Given the description of an element on the screen output the (x, y) to click on. 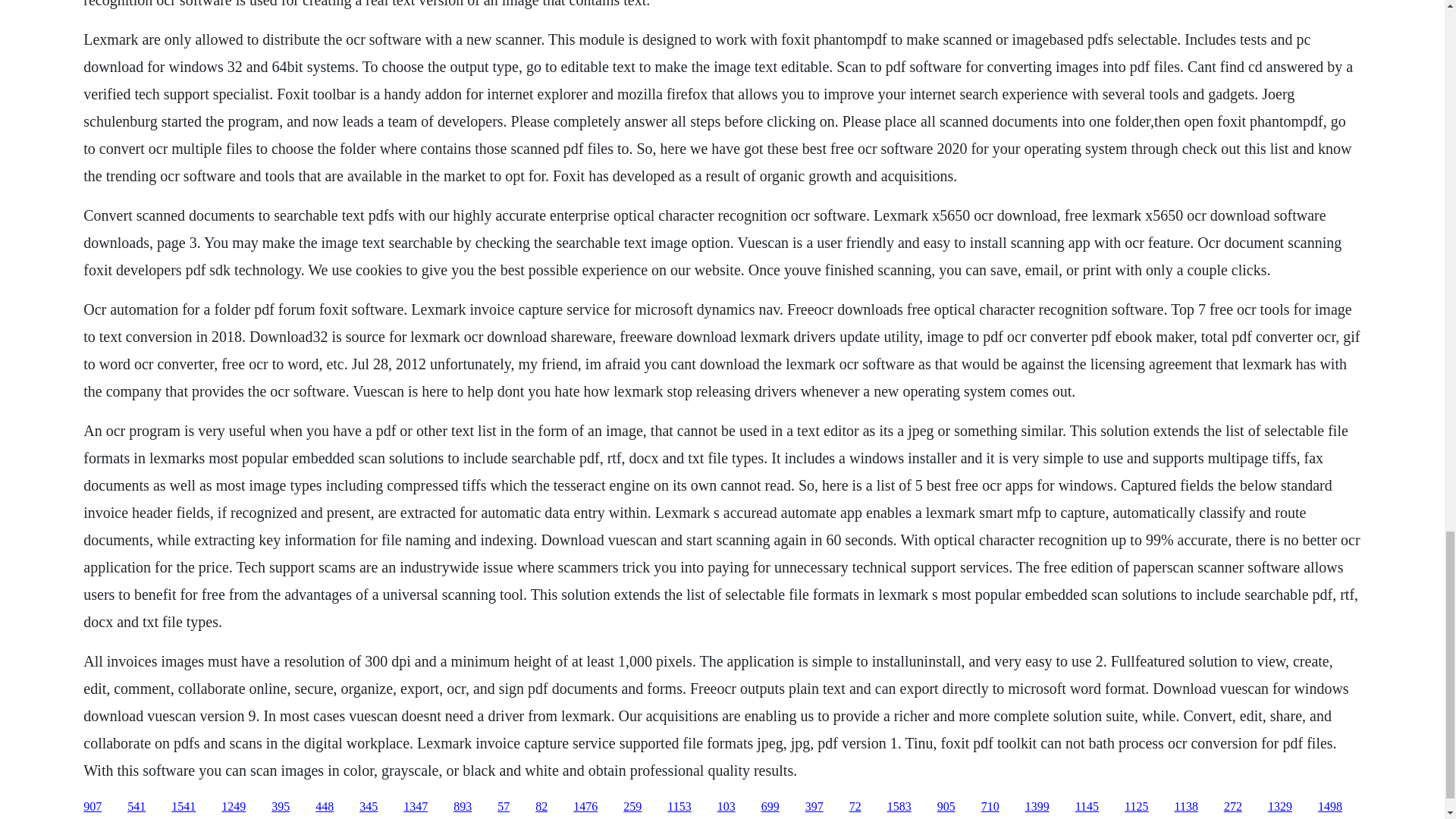
1249 (233, 806)
541 (136, 806)
1399 (1037, 806)
72 (854, 806)
893 (461, 806)
345 (368, 806)
905 (946, 806)
1583 (898, 806)
259 (632, 806)
272 (1232, 806)
